Given the description of an element on the screen output the (x, y) to click on. 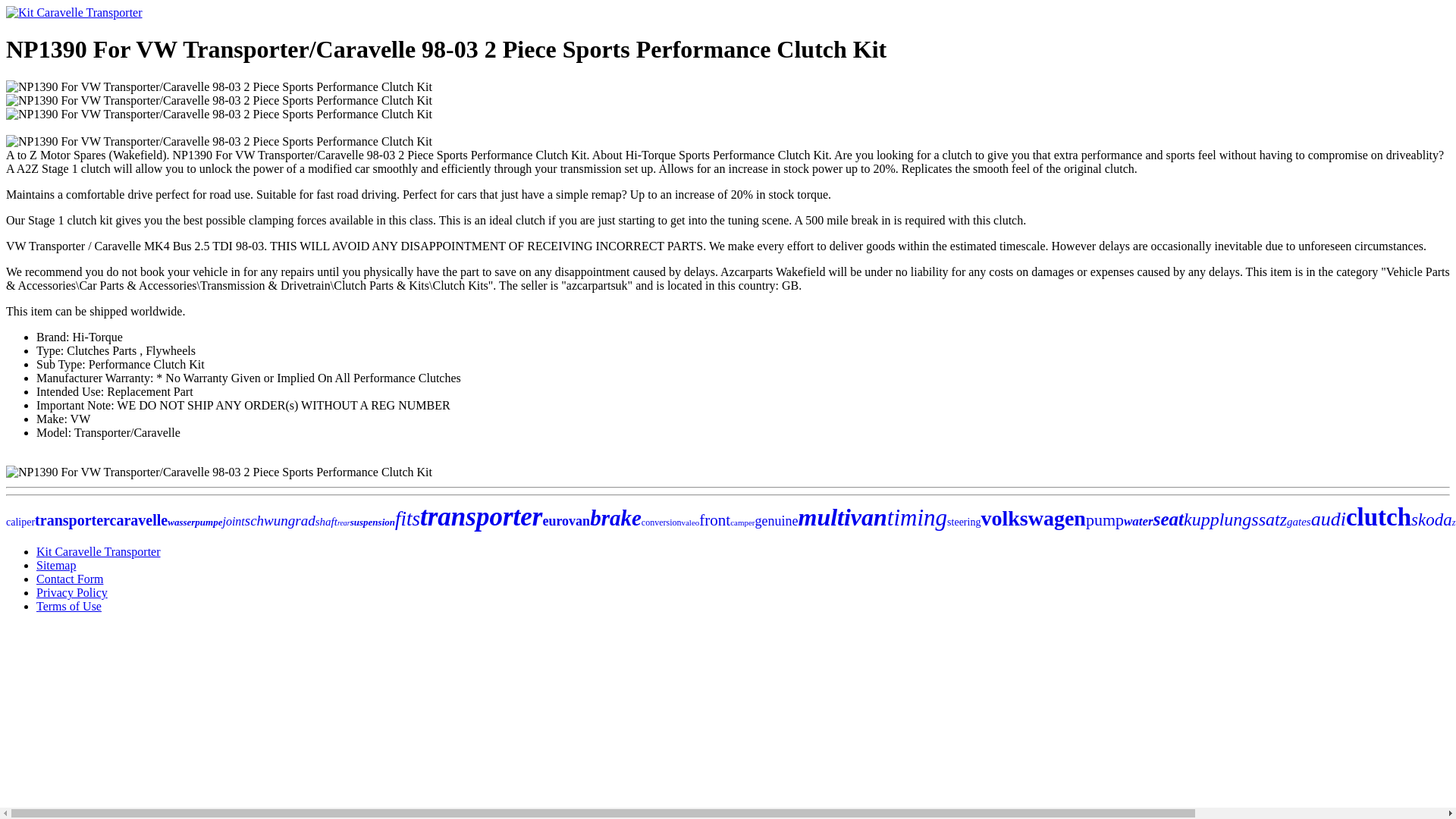
volkswagen (1031, 517)
pump (1105, 519)
steering (963, 521)
kupplungssatz (1235, 519)
audi (1328, 518)
camper (742, 522)
joint (233, 521)
transportercaravelle (100, 519)
shaft (326, 521)
schwungrad (279, 520)
